Given the description of an element on the screen output the (x, y) to click on. 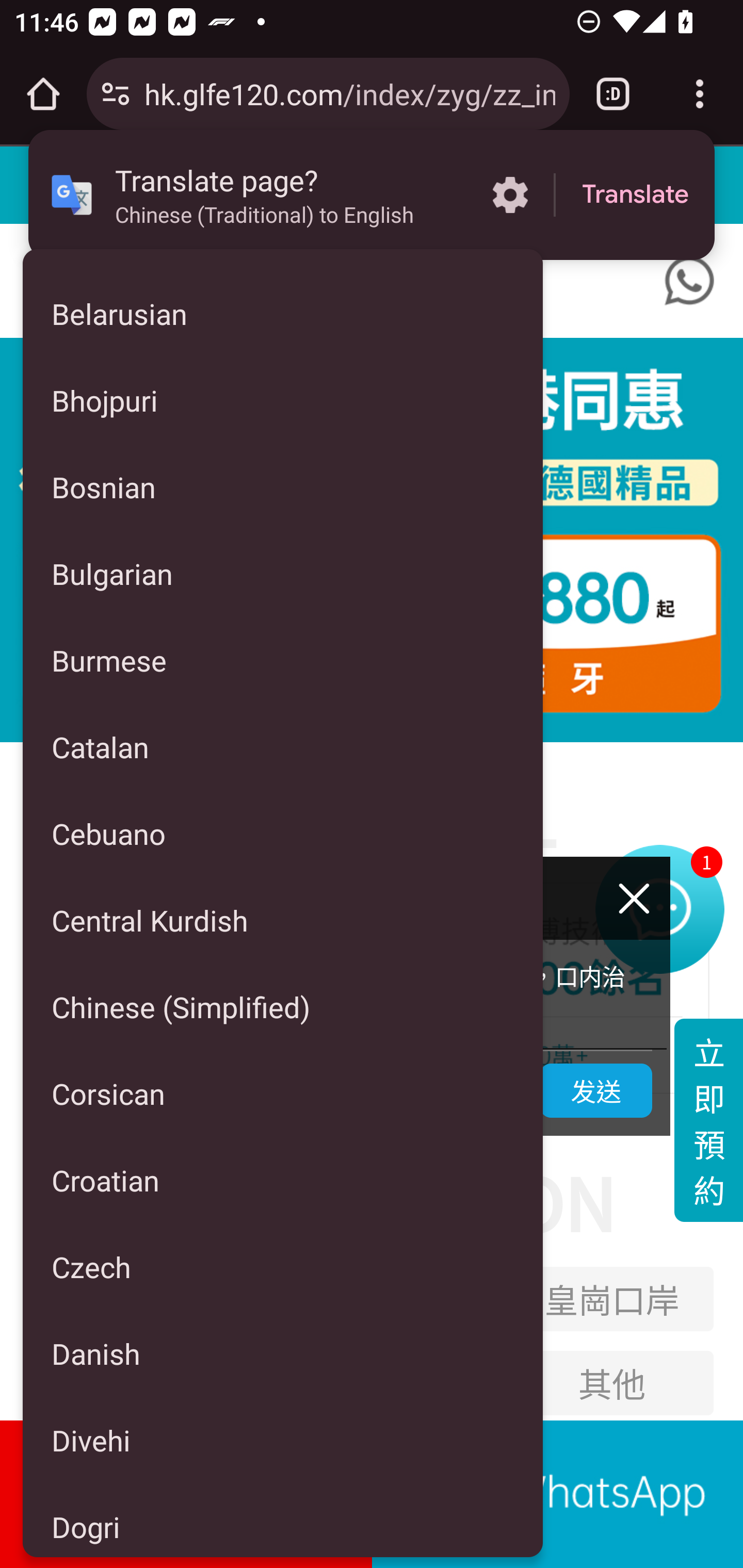
Belarusian (283, 313)
Bhojpuri (283, 400)
Bosnian (283, 486)
Bulgarian (283, 572)
Burmese (283, 660)
Catalan (283, 747)
Cebuano (283, 833)
Central Kurdish (283, 919)
Chinese (Simplified) (283, 1006)
Corsican (283, 1093)
Croatian (283, 1179)
Czech (283, 1266)
Danish (283, 1353)
Divehi (283, 1440)
Dogri (283, 1520)
